Given the description of an element on the screen output the (x, y) to click on. 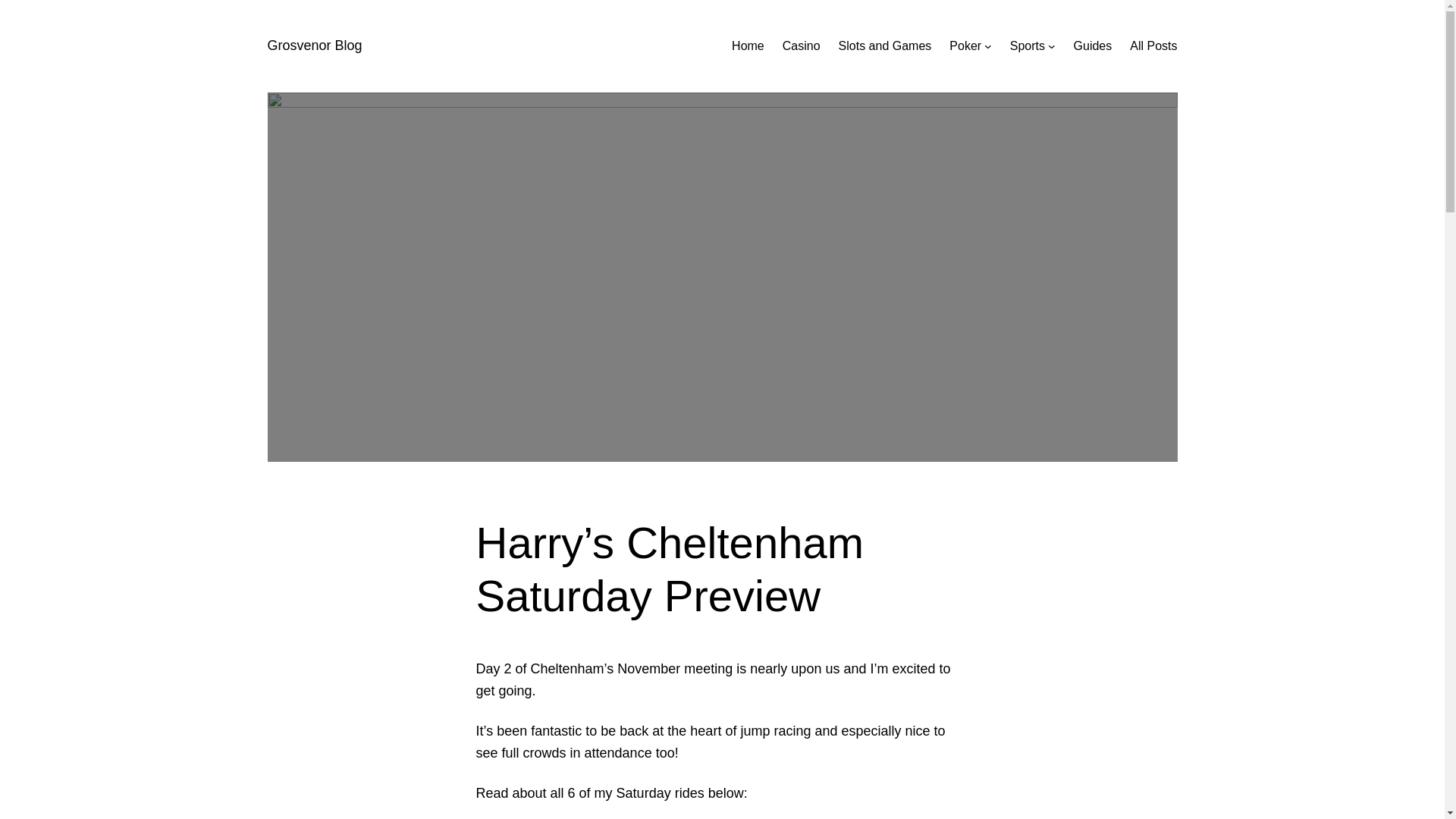
Casino (802, 46)
Guides (1093, 46)
All Posts (1152, 46)
Slots and Games (884, 46)
Poker (965, 46)
Grosvenor Blog (313, 45)
Home (748, 46)
Sports (1027, 46)
